Given the description of an element on the screen output the (x, y) to click on. 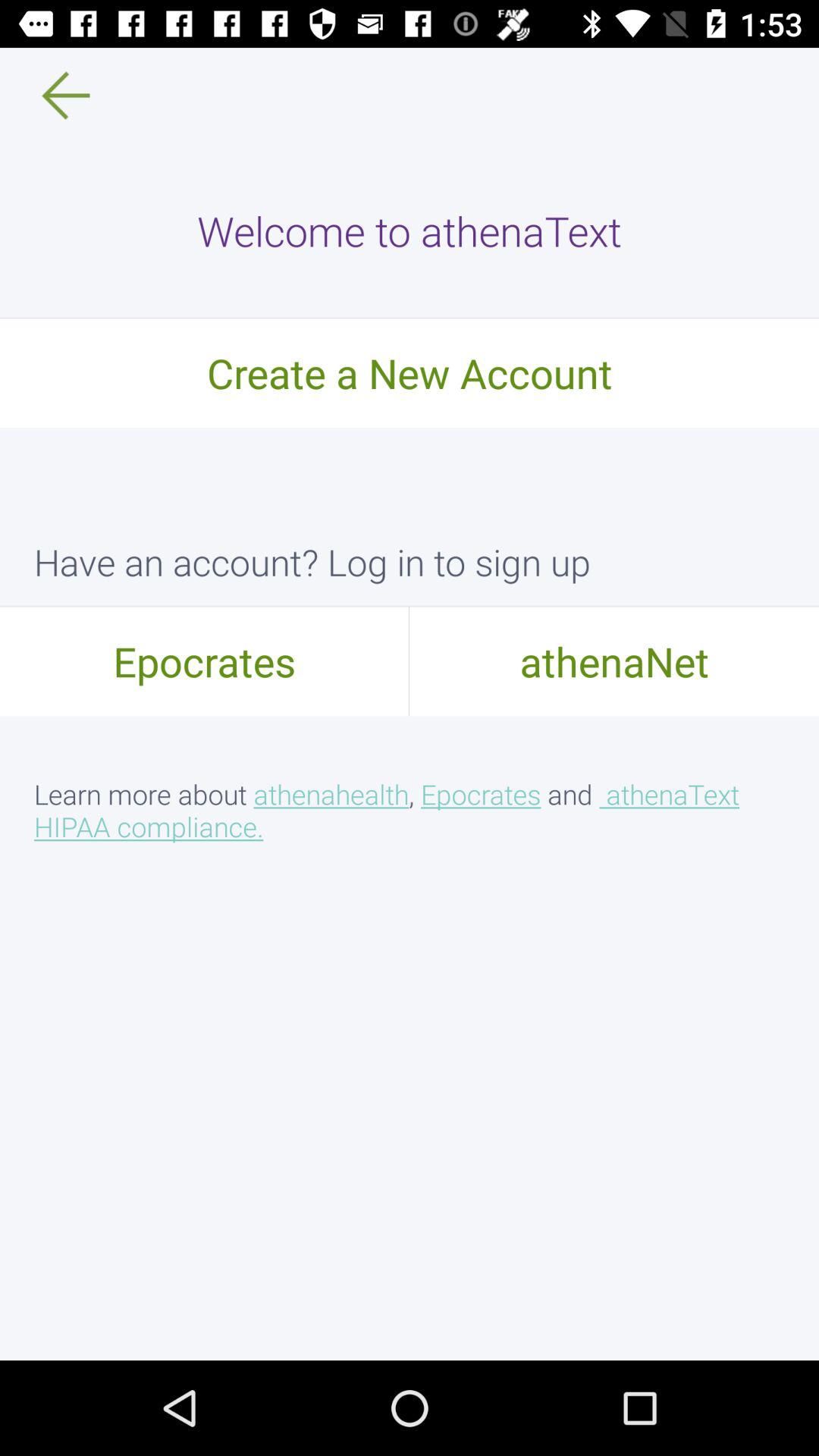
click the create a new item (409, 372)
